Given the description of an element on the screen output the (x, y) to click on. 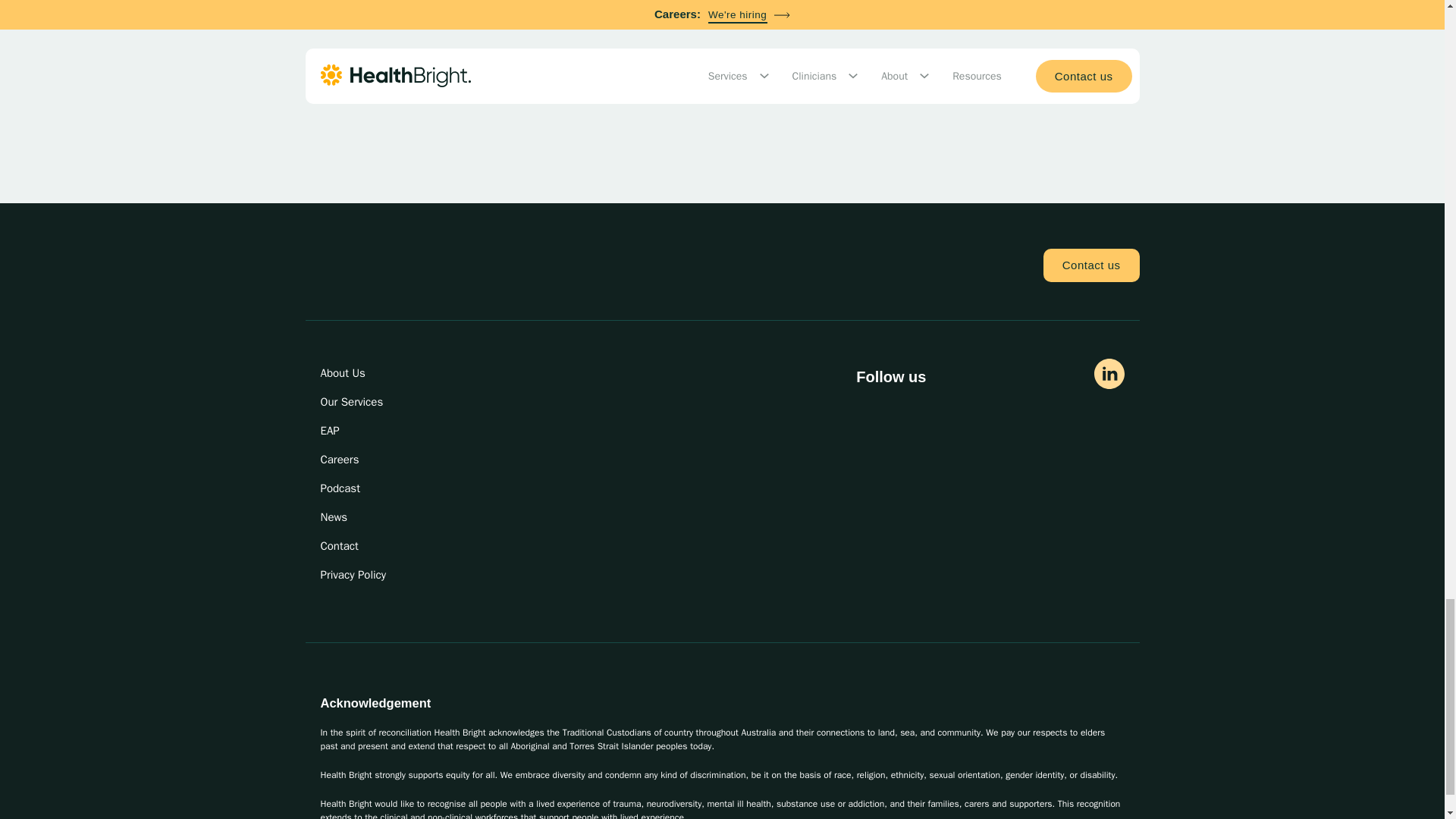
About Us (364, 372)
Podcast (364, 488)
EAP (364, 430)
Our Services (364, 401)
Careers (364, 459)
Contact us (1091, 264)
